Given the description of an element on the screen output the (x, y) to click on. 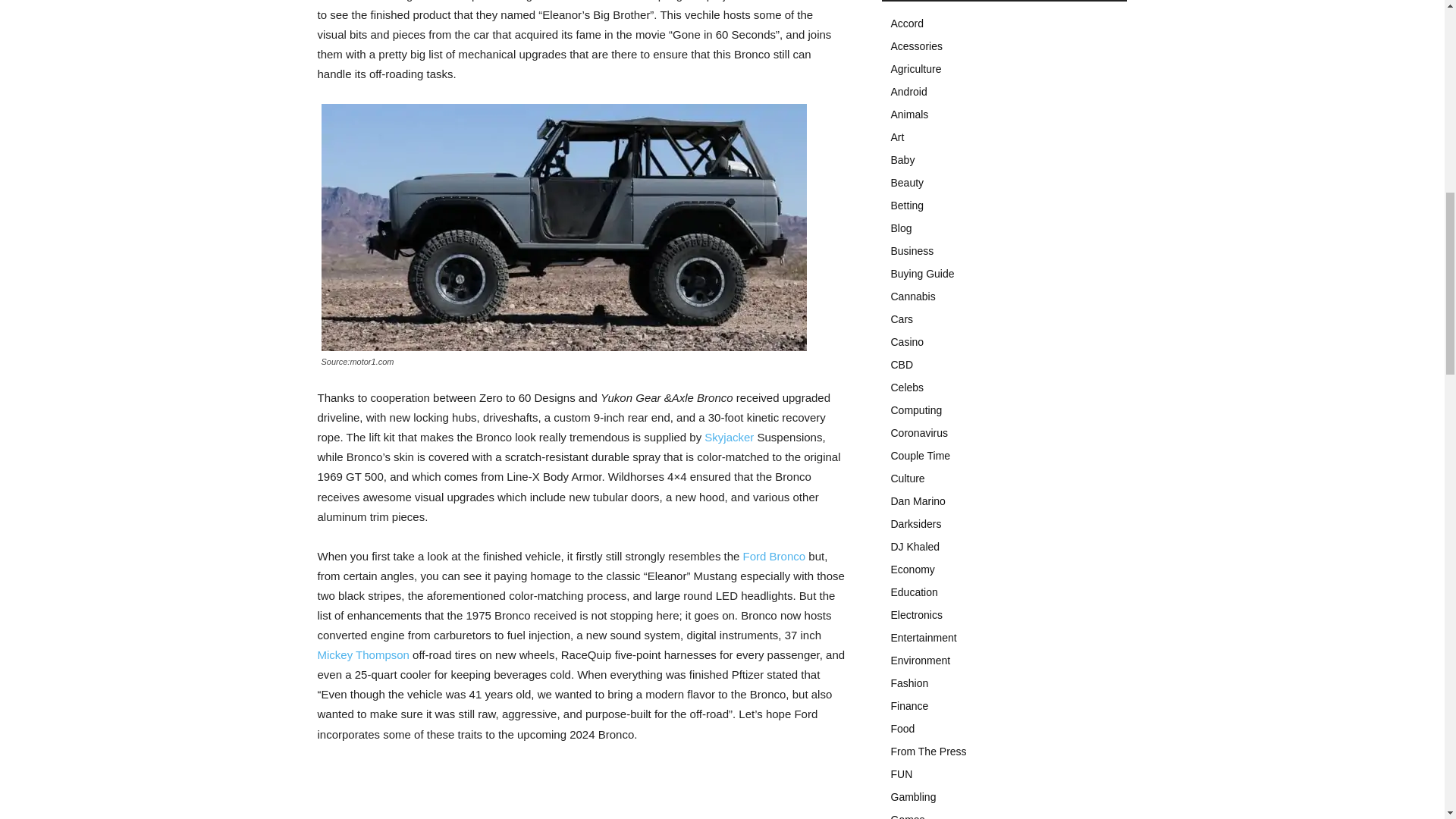
Skyjacker (729, 436)
Ford Bronco (774, 555)
Mickey Thompson (363, 654)
